Given the description of an element on the screen output the (x, y) to click on. 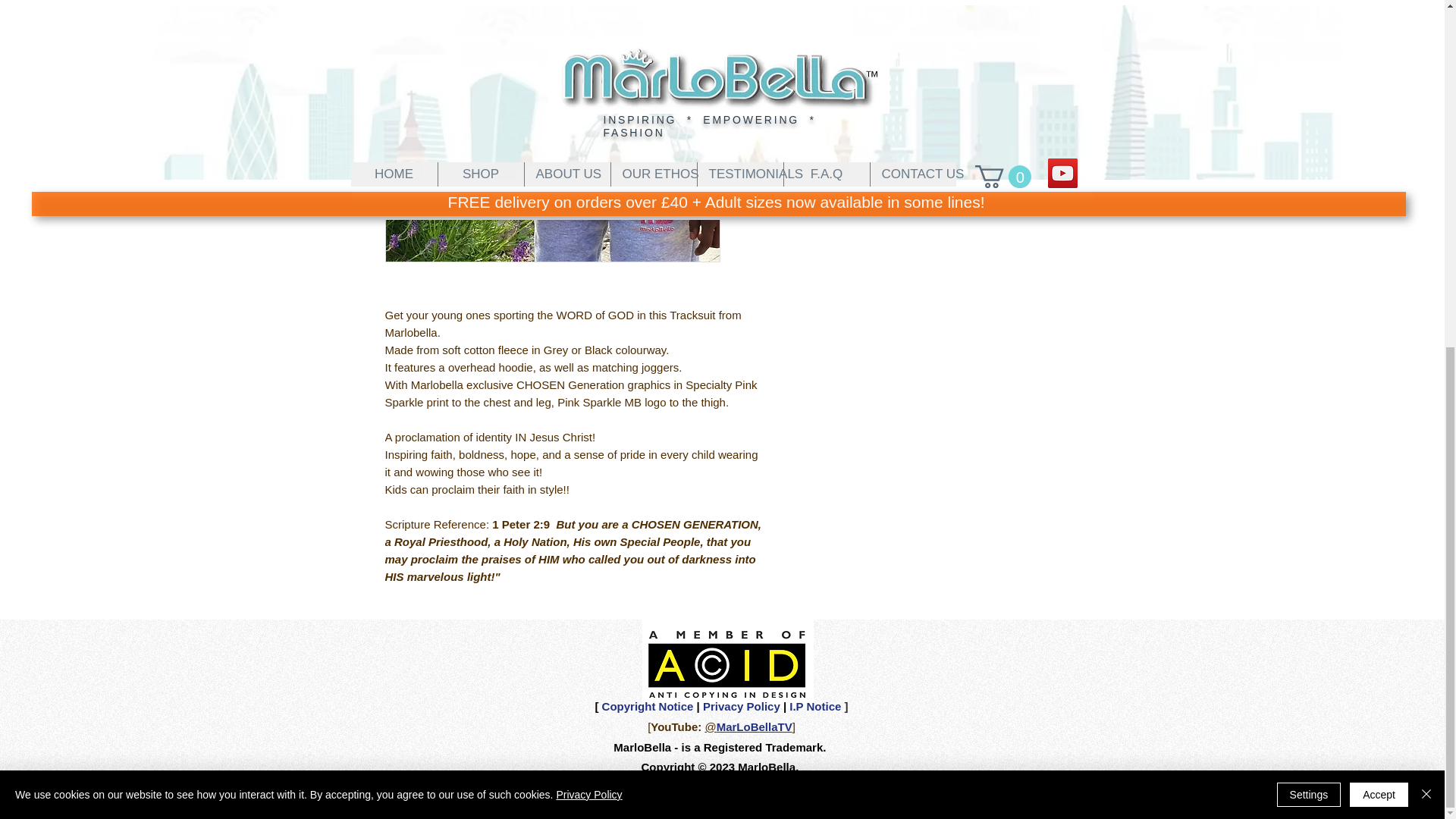
Copyright Notice (648, 706)
Add to Cart (924, 9)
MarloBella (641, 747)
Privacy Policy (741, 706)
Settings (1308, 197)
Accept (1378, 197)
I.P Notice (813, 706)
MarloBella Designs (752, 807)
PRODUCT INFO: (924, 66)
ACID Copyright Member Logo (727, 663)
Privacy Policy (588, 197)
